Given the description of an element on the screen output the (x, y) to click on. 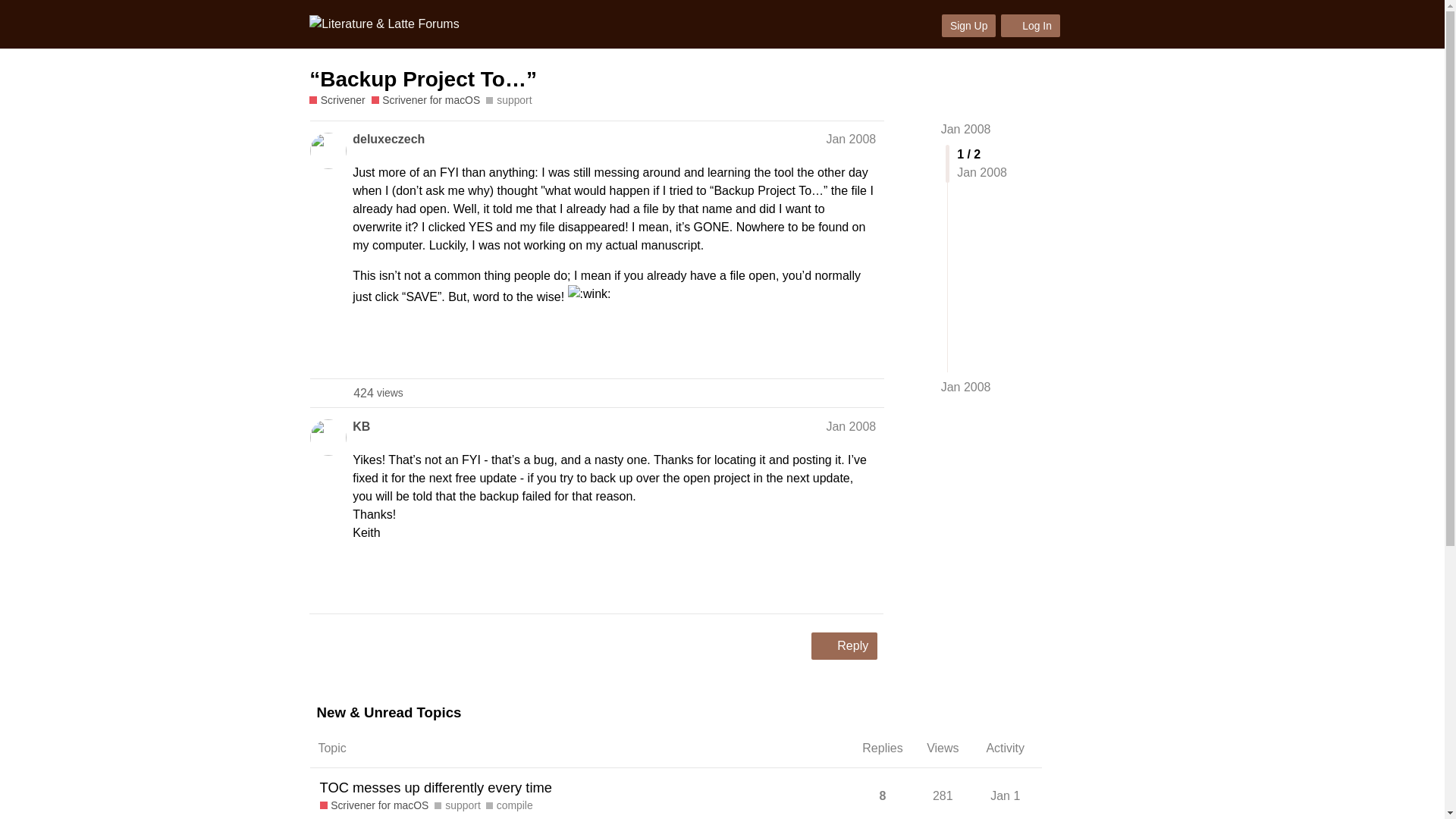
This user is a moderator (378, 426)
Post date (850, 426)
:wink: (589, 294)
Jan 2008 (965, 128)
Log In (1030, 25)
like this post (835, 585)
Jan 2008 (377, 392)
Post date (965, 387)
Reply (850, 138)
copy a link to this post to clipboard (843, 646)
deluxeczech (869, 349)
menu (388, 139)
TOC messes up differently every time (1117, 23)
